Given the description of an element on the screen output the (x, y) to click on. 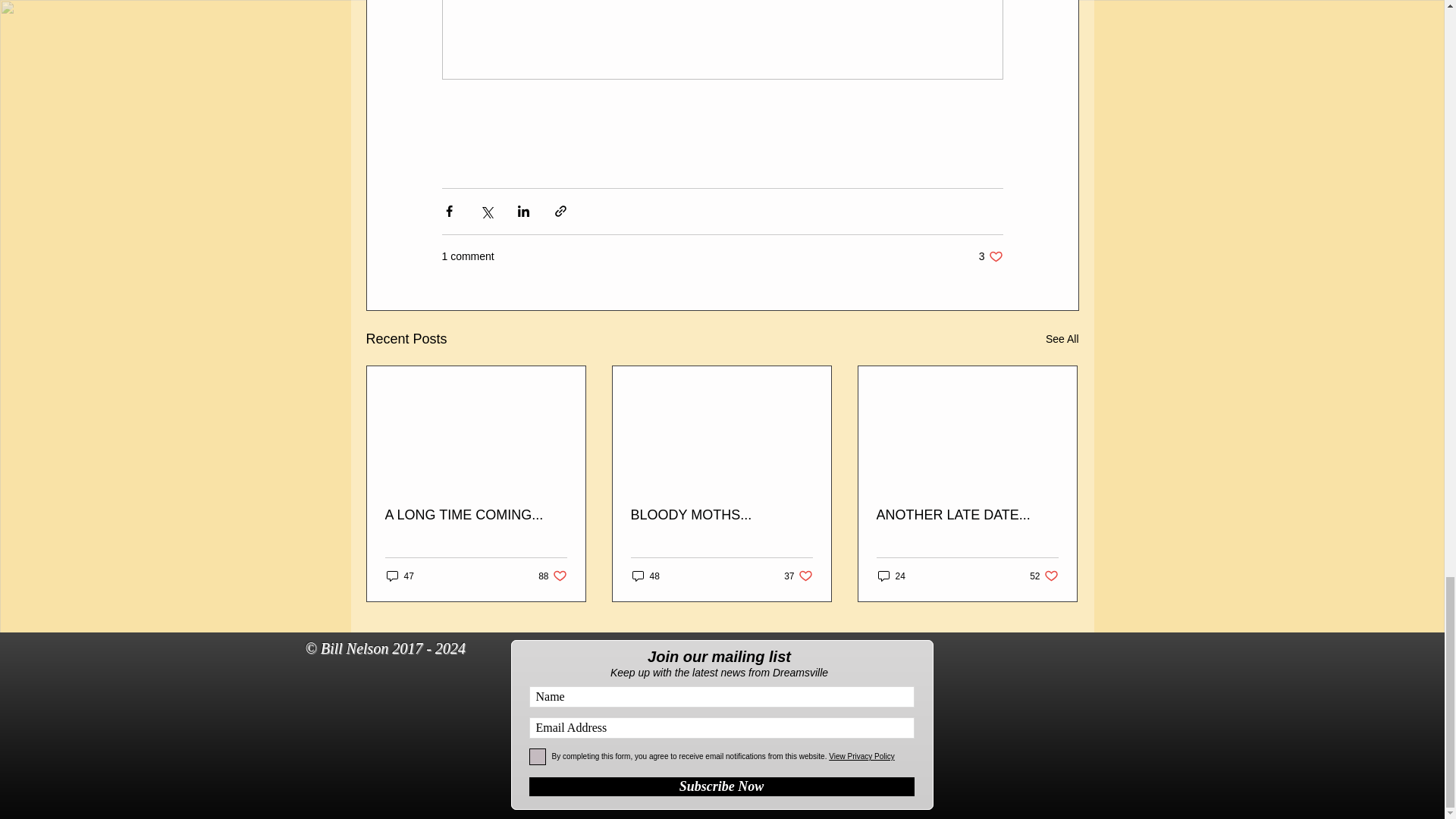
47 (399, 575)
ANOTHER LATE DATE... (967, 514)
See All (1061, 339)
Subscribe Now (552, 575)
BLOODY MOTHS... (721, 786)
View Privacy Policy (990, 256)
A LONG TIME COMING... (721, 514)
